Given the description of an element on the screen output the (x, y) to click on. 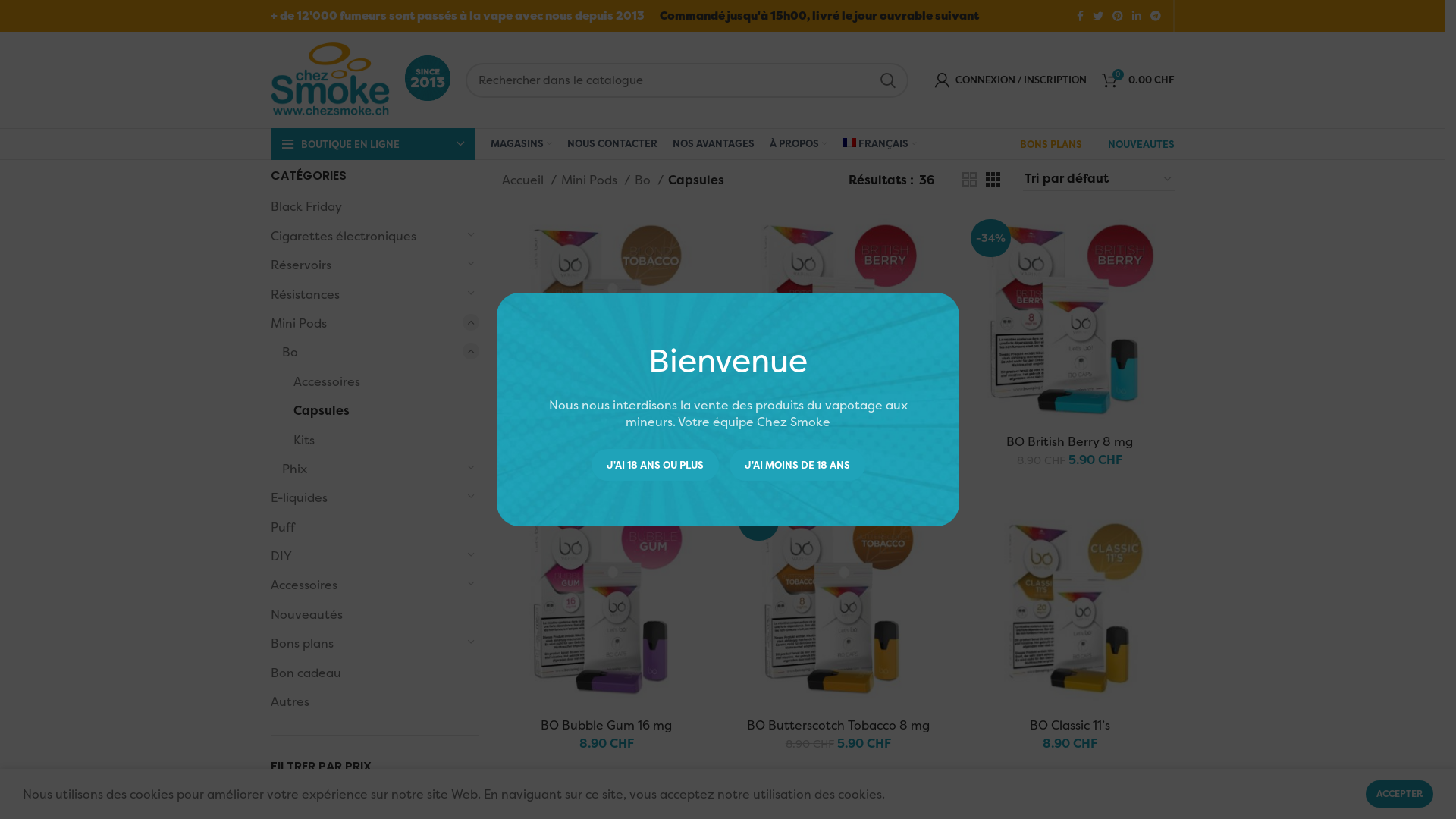
J'AI MOINS DE 18 ANS Element type: text (797, 464)
E-liquides Element type: text (364, 497)
0
0.00 CHF Element type: text (1137, 80)
Autres Element type: text (364, 701)
BO British Berry 8 mg Element type: text (1069, 441)
BO Bubble Gum 16 mg Element type: text (605, 724)
J'AI 18 ANS OU PLUS Element type: text (654, 464)
BO Butterscotch Tobacco 8 mg Element type: text (837, 724)
Bon cadeau Element type: text (364, 672)
Bo Element type: text (371, 351)
Puff Element type: text (364, 526)
Capsules Element type: text (376, 409)
CONNEXION / INSCRIPTION Element type: text (1009, 80)
Connexion Element type: text (961, 318)
SEARCH Element type: text (887, 79)
Phix Element type: text (371, 468)
-34% Element type: text (837, 603)
Bo Element type: text (648, 179)
Bons plans Element type: text (364, 642)
-34% Element type: text (1069, 319)
NOUVEAUTES Element type: text (1140, 143)
DIY Element type: text (364, 555)
Kits Element type: text (376, 439)
Accessoires Element type: text (376, 381)
Rechercher dans le catalogue Element type: hover (686, 79)
NOUS CONTACTER Element type: text (612, 143)
Accessoires Element type: text (364, 584)
BONS PLANS Element type: text (1050, 143)
Accueil Element type: text (529, 179)
Black Friday Element type: text (364, 205)
BO Blond Tobacco 8 mg Element type: text (606, 441)
36 Element type: text (925, 179)
MAGASINS Element type: text (520, 143)
NOS AVANTAGES Element type: text (712, 143)
ACCEPTER Element type: text (1399, 793)
BO British Berry 16 mg Element type: text (837, 441)
Mini Pods Element type: text (595, 179)
Mini Pods Element type: text (364, 322)
